Given the description of an element on the screen output the (x, y) to click on. 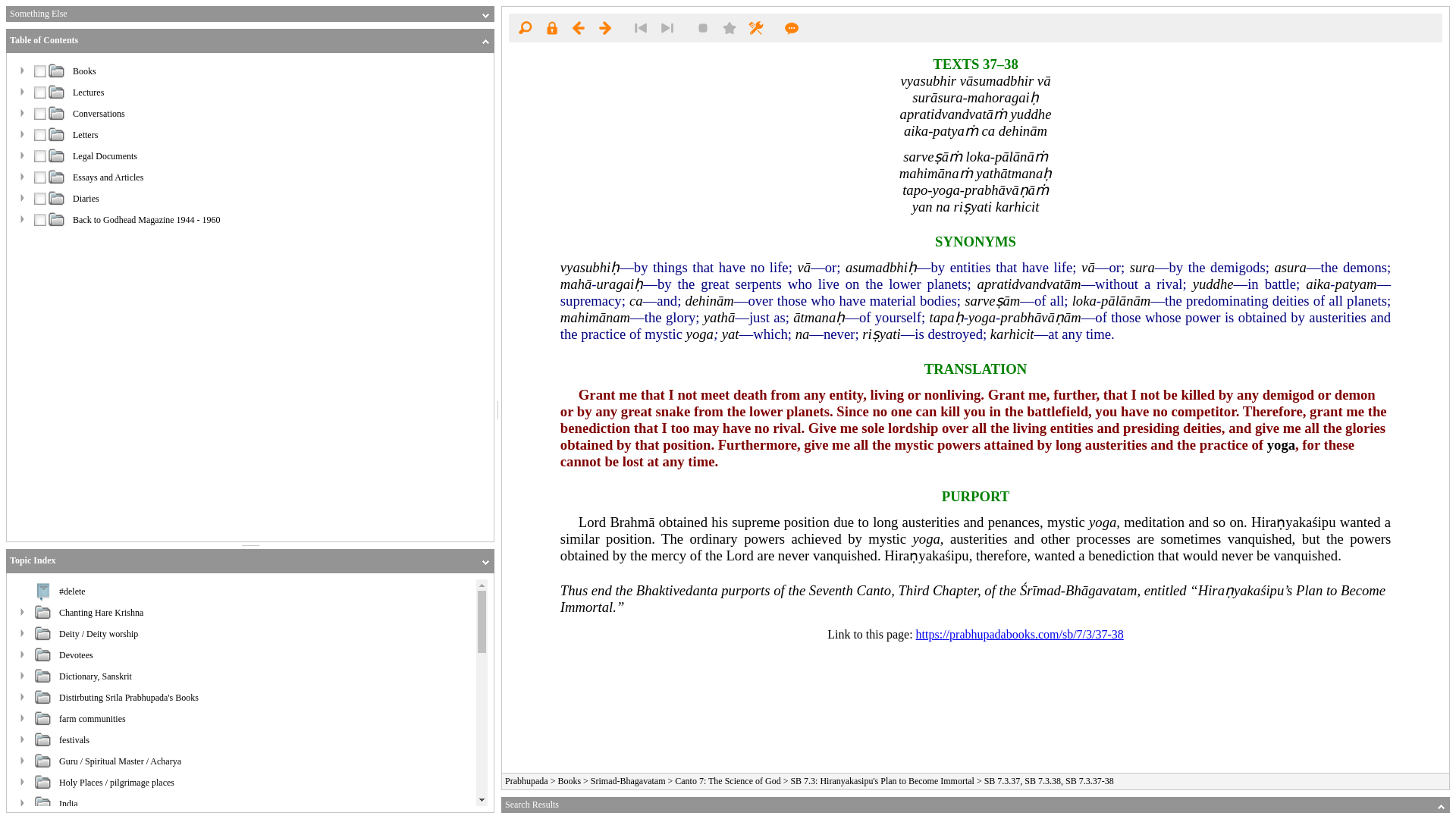
Highlight Text (703, 27)
Bookmark (729, 27)
Settings (755, 27)
Previous Search Hit (640, 27)
Next Search Hit (666, 27)
Next Document (604, 27)
Previous Document (578, 27)
Login (551, 27)
Help (791, 27)
Search (525, 27)
